Given the description of an element on the screen output the (x, y) to click on. 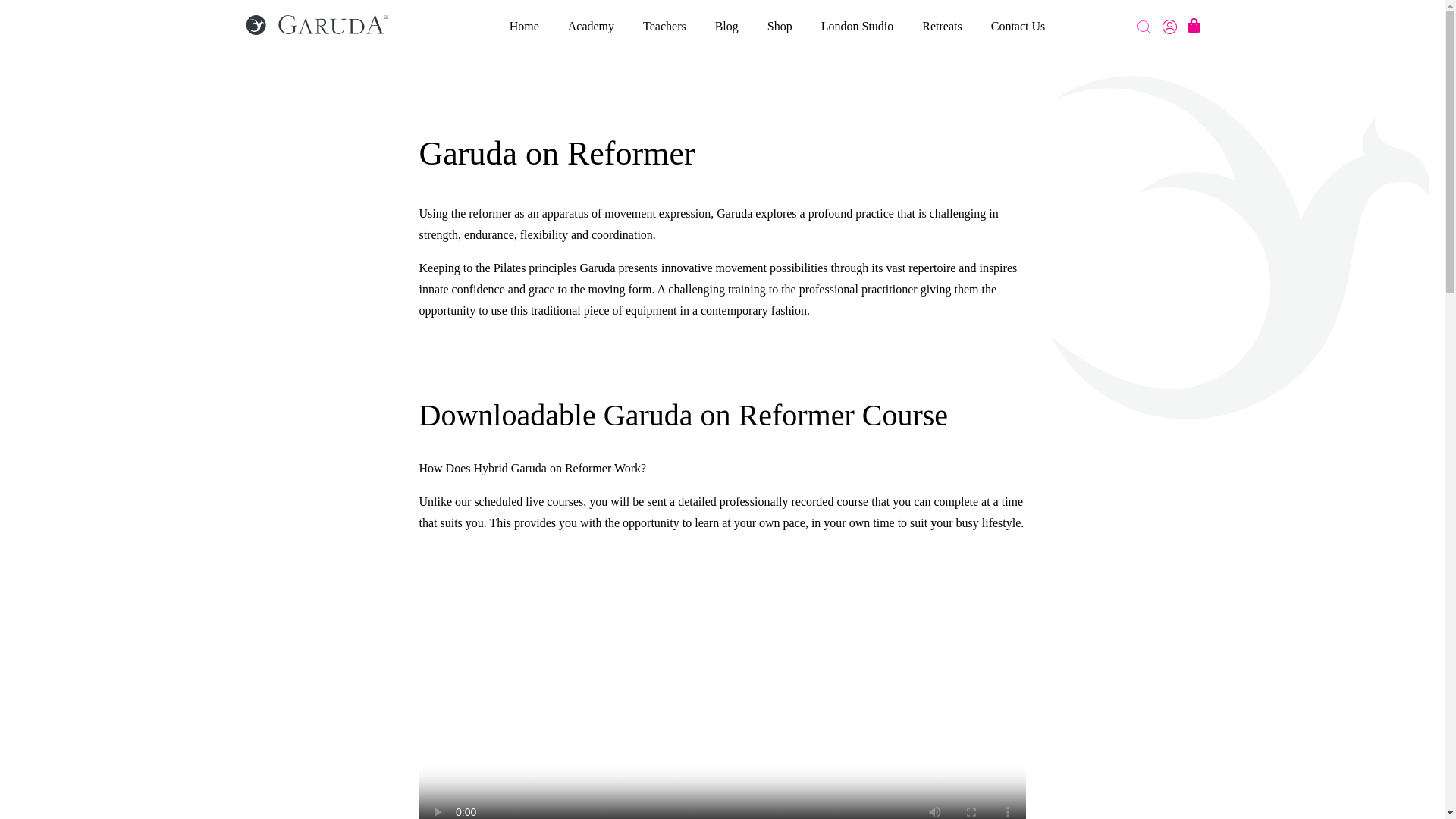
Academy (590, 25)
Blog (726, 25)
Shop (779, 25)
Contact Us (1018, 25)
Home (523, 25)
Teachers (664, 25)
Retreats (940, 25)
London Studio (857, 25)
